Given the description of an element on the screen output the (x, y) to click on. 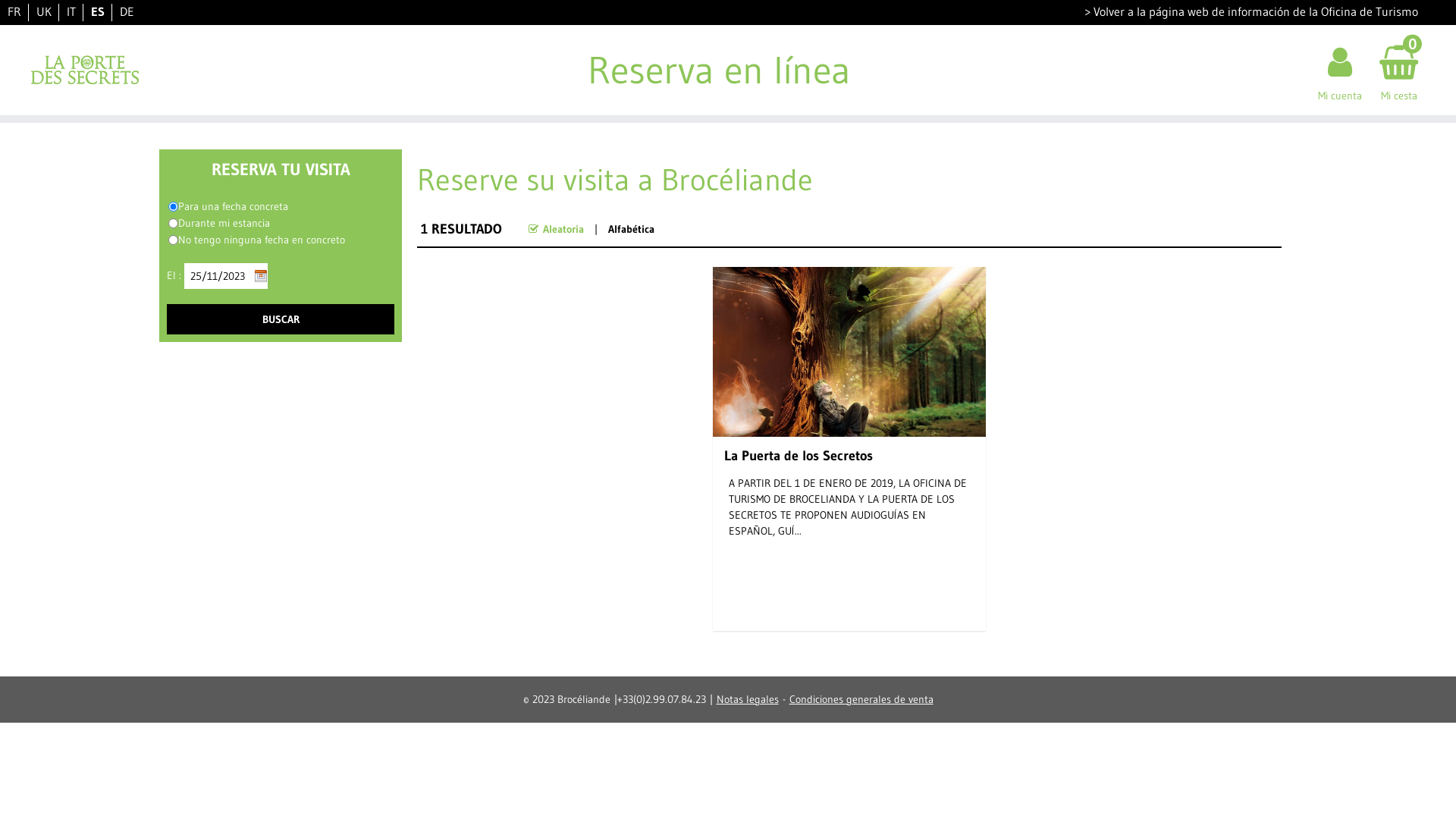
Mostrar Element type: text (23, 9)
+33(0)2.99.07.84.23 Element type: text (661, 698)
Notas legales Element type: text (746, 698)
PERIODE Element type: text (173, 223)
Aleatoria Element type: text (562, 228)
FICHA DETALLADA Element type: text (848, 611)
La Puerta de los Secretos Element type: text (801, 458)
UK Element type: text (43, 10)
Condiciones generales de venta Element type: text (860, 698)
LE Element type: text (173, 206)
DE Element type: text (126, 10)
IT Element type: text (70, 10)
Mi cesta Element type: text (1398, 69)
AUCUNE Element type: text (173, 239)
ES Element type: text (97, 10)
FR Element type: text (14, 10)
Buscar Element type: text (280, 319)
Mi cuenta Element type: text (1339, 69)
